Given the description of an element on the screen output the (x, y) to click on. 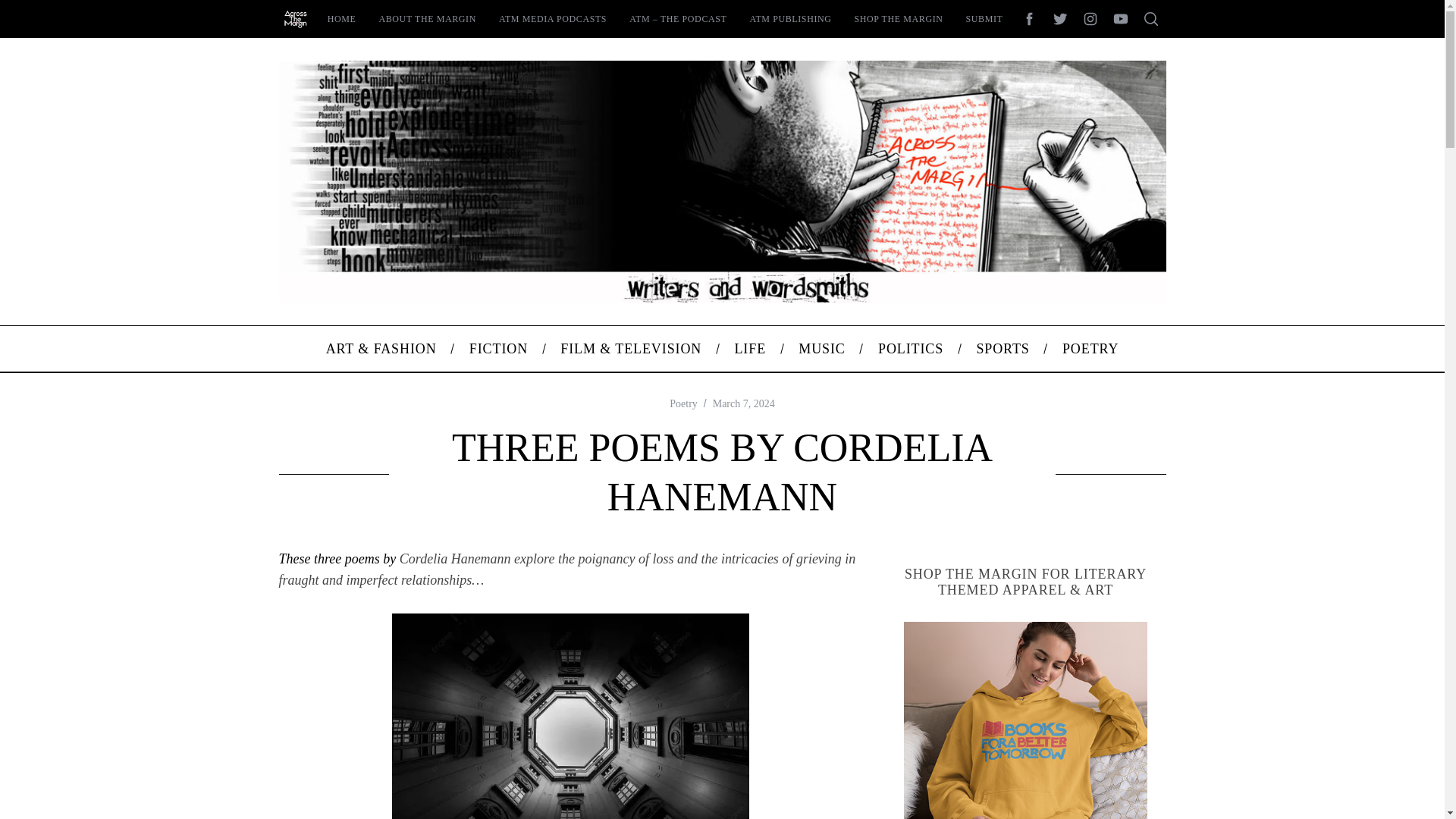
MUSIC (822, 348)
POETRY (1090, 348)
SHOP THE MARGIN (899, 18)
POLITICS (910, 348)
LIFE (750, 348)
SHOP THE MARGIN! (1026, 720)
ABOUT THE MARGIN (426, 18)
ATM MEDIA PODCASTS (552, 18)
ATM PUBLISHING (790, 18)
SUBMIT (984, 18)
